Given the description of an element on the screen output the (x, y) to click on. 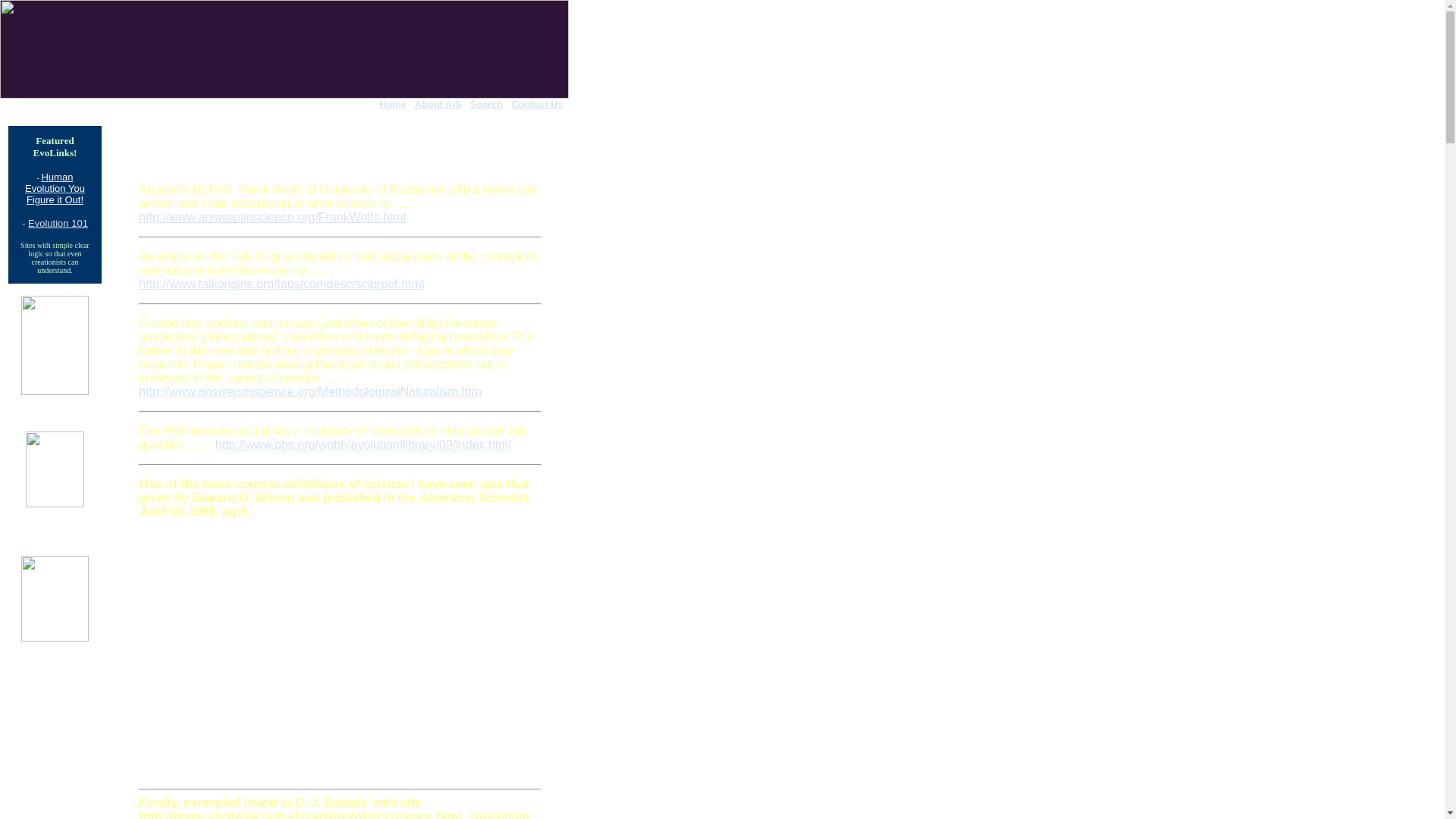
Human Evolution You Figure it Out! (54, 187)
Contact Us (537, 103)
Search (486, 103)
About AiS (437, 103)
Home (392, 103)
Evolution 101 (57, 223)
